Given the description of an element on the screen output the (x, y) to click on. 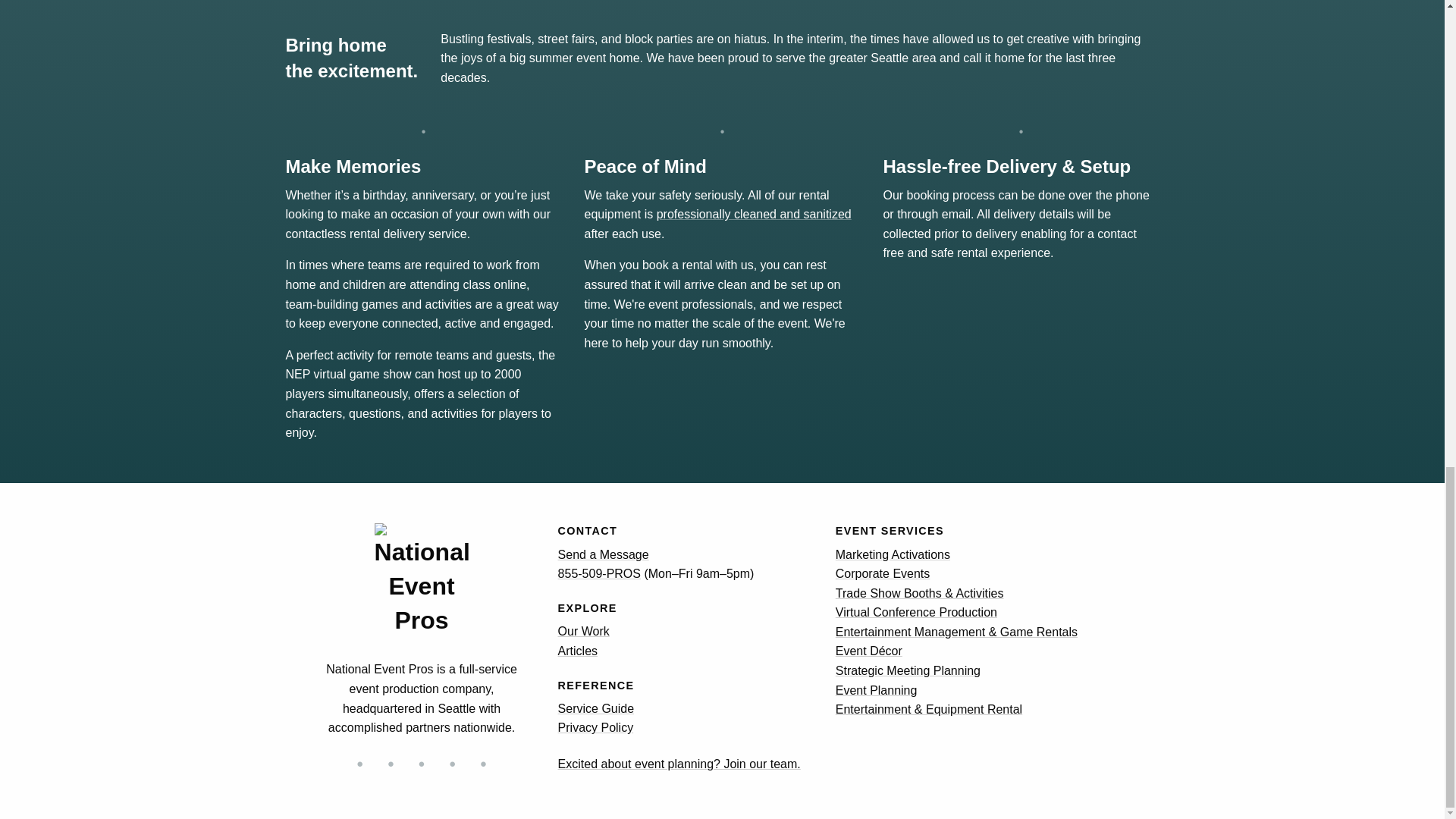
Our Work (583, 631)
LinkedIn (483, 764)
Corporate Events (882, 573)
Instagram (360, 764)
Twitter (389, 764)
Strategic Meeting Planning (907, 670)
Pinterest (452, 764)
Service Guide (595, 707)
professionally cleaned and sanitized (753, 214)
Virtual Conference Production (916, 612)
CONTACT (587, 530)
Facebook (421, 764)
Send a Message (603, 554)
Articles (576, 650)
855-509-PROS (598, 573)
